Given the description of an element on the screen output the (x, y) to click on. 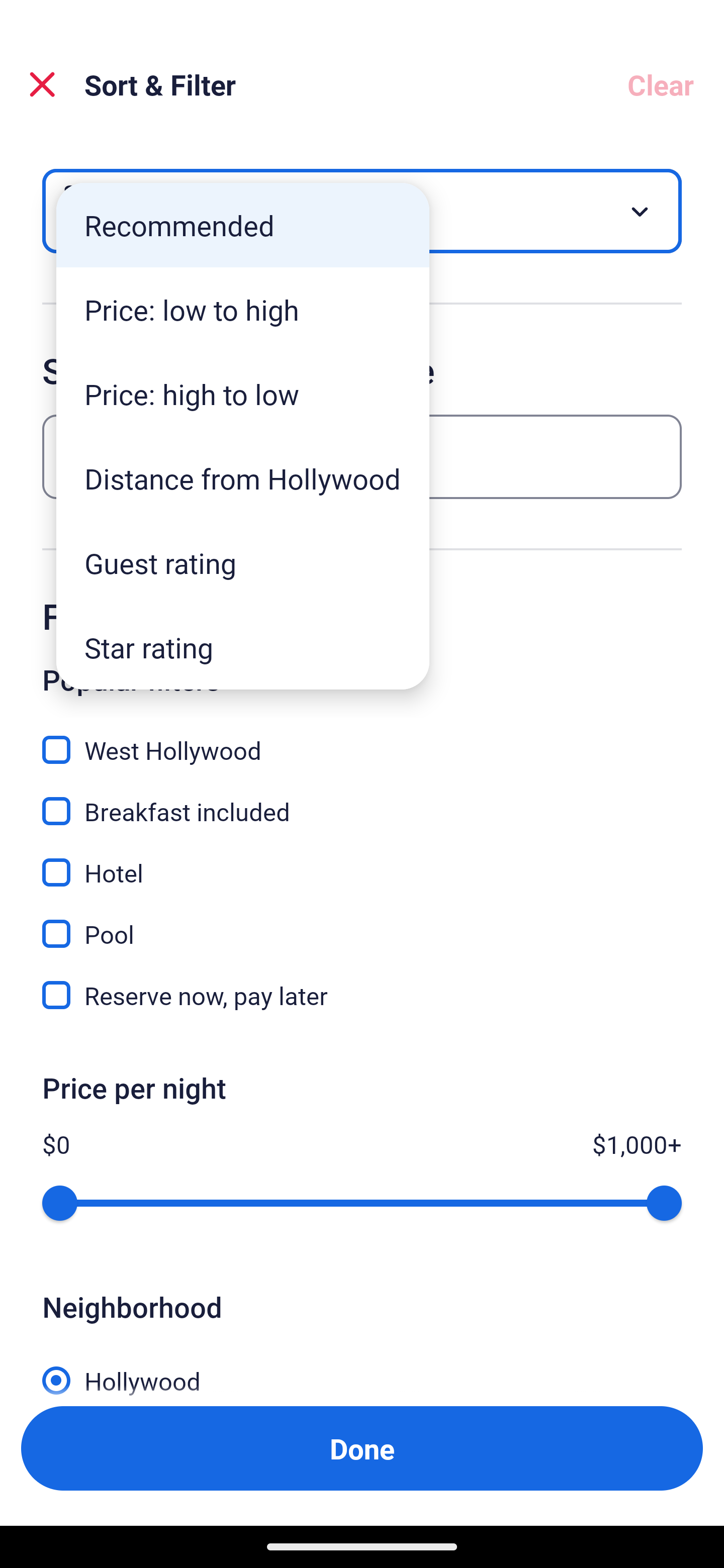
Price: low to high (242, 309)
Price: high to low (242, 393)
Distance from Hollywood (242, 477)
Guest rating (242, 562)
Star rating (242, 647)
